Given the description of an element on the screen output the (x, y) to click on. 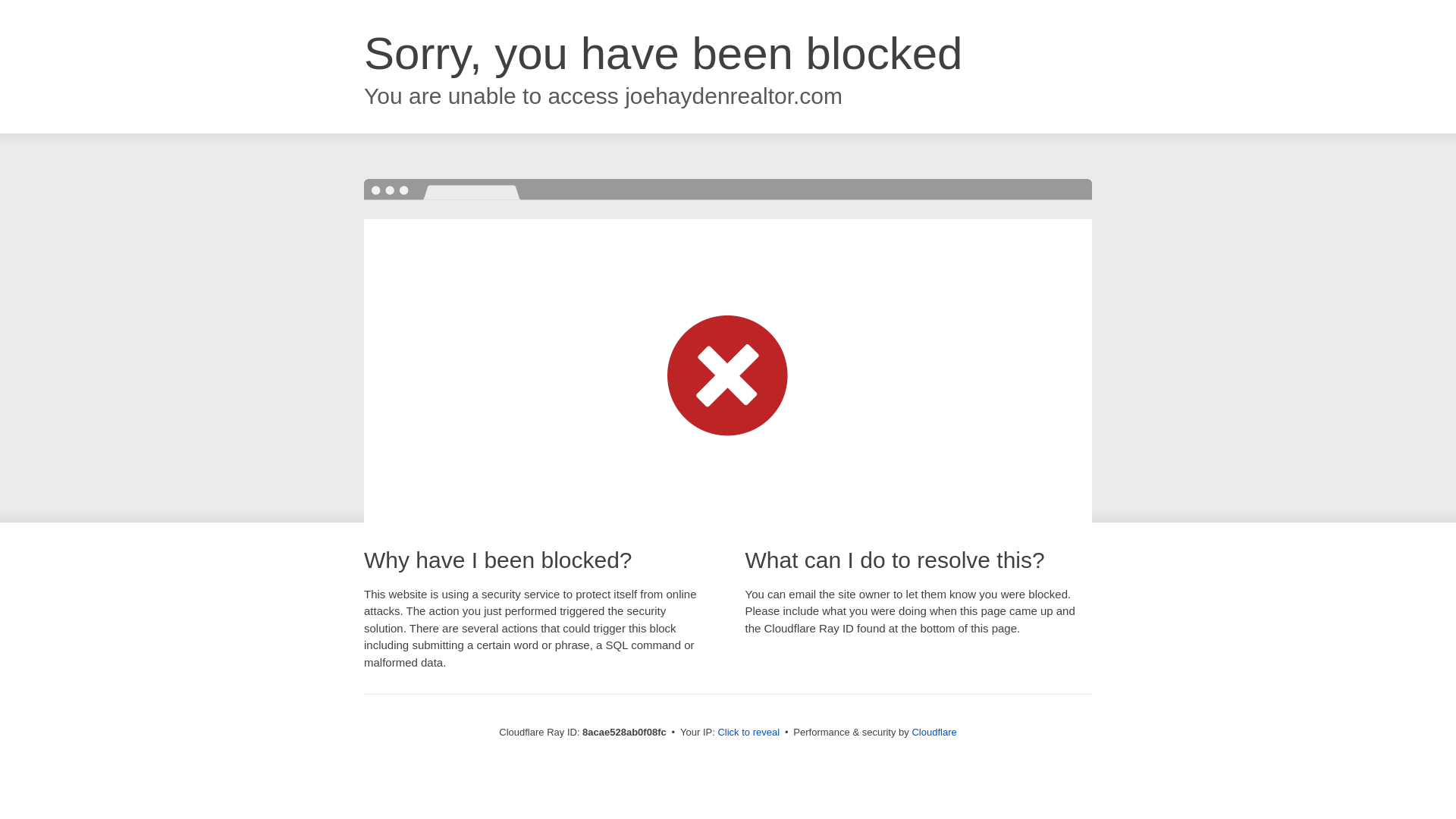
Click to reveal (747, 732)
Cloudflare (933, 731)
